Given the description of an element on the screen output the (x, y) to click on. 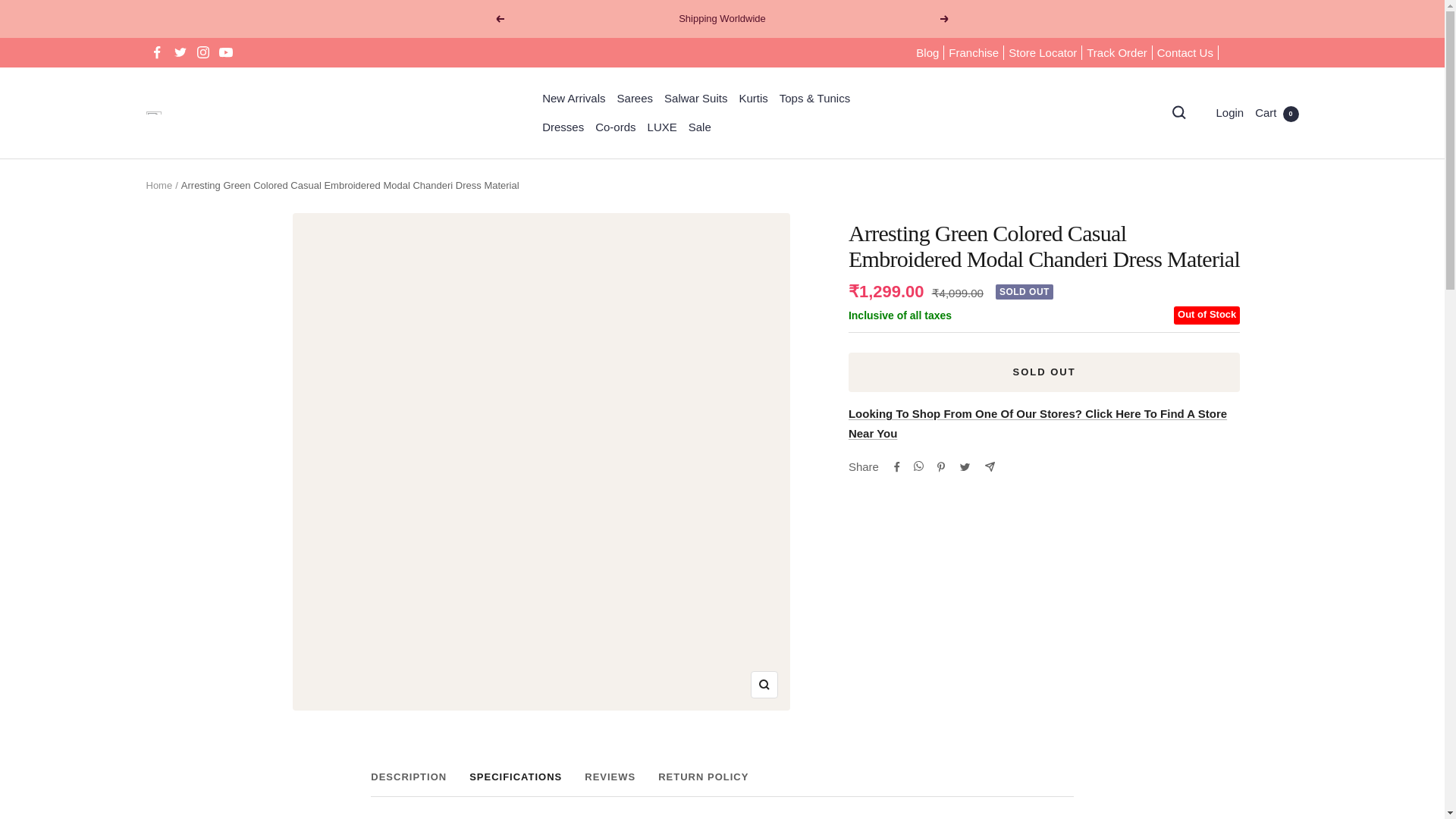
Blog (927, 52)
CA (1201, 179)
IN (1201, 379)
HK (1201, 354)
SA (1201, 730)
QA (1201, 704)
AU (1201, 104)
NZ (1201, 605)
JP (1201, 479)
Track Order (1116, 52)
